Given the description of an element on the screen output the (x, y) to click on. 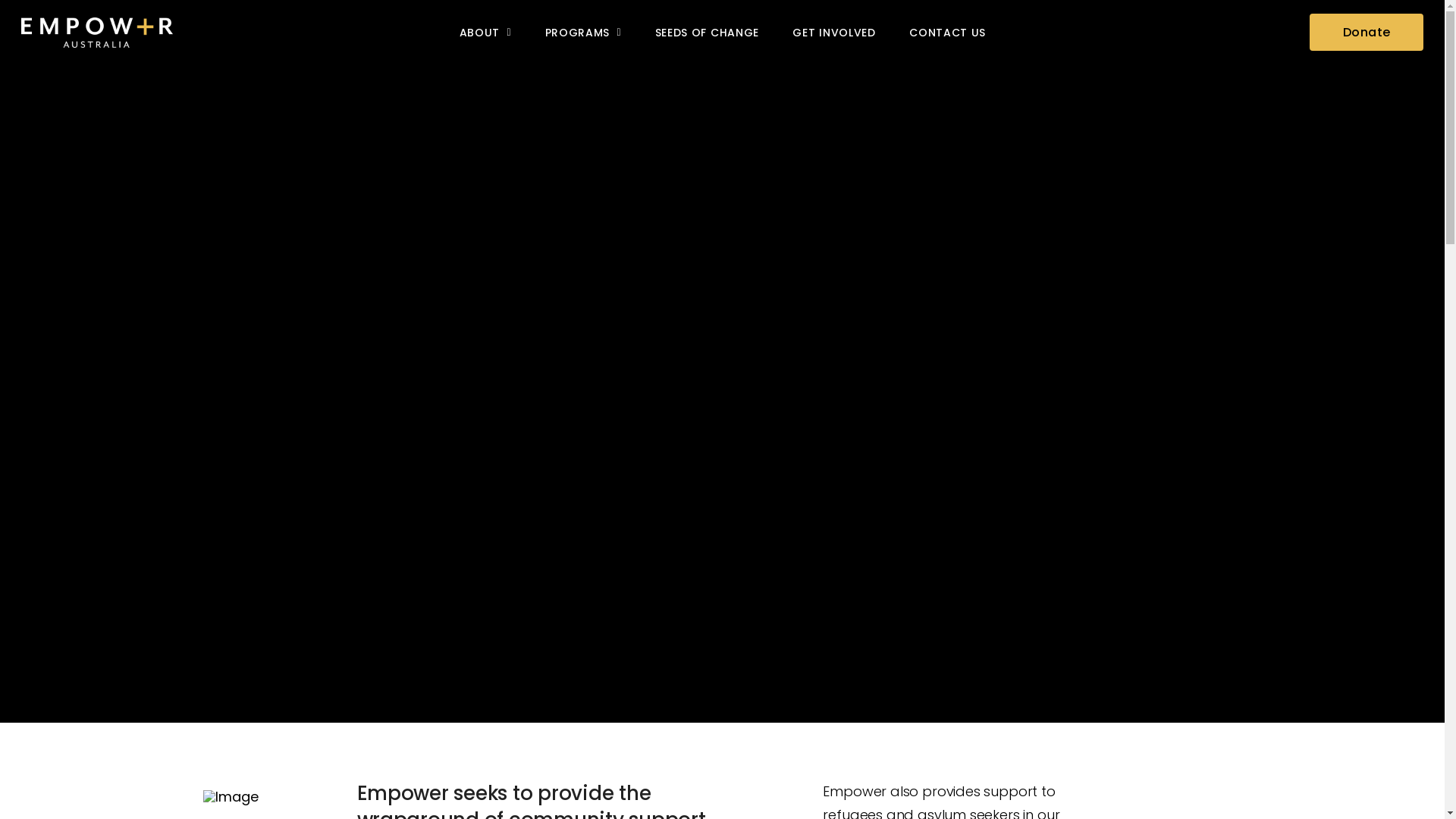
CONTACT US Element type: text (947, 32)
SEEDS OF CHANGE Element type: text (706, 32)
ABOUT Element type: text (484, 32)
Donate Element type: text (1366, 31)
PROGRAMS Element type: text (582, 32)
GET INVOLVED Element type: text (833, 32)
